Given the description of an element on the screen output the (x, y) to click on. 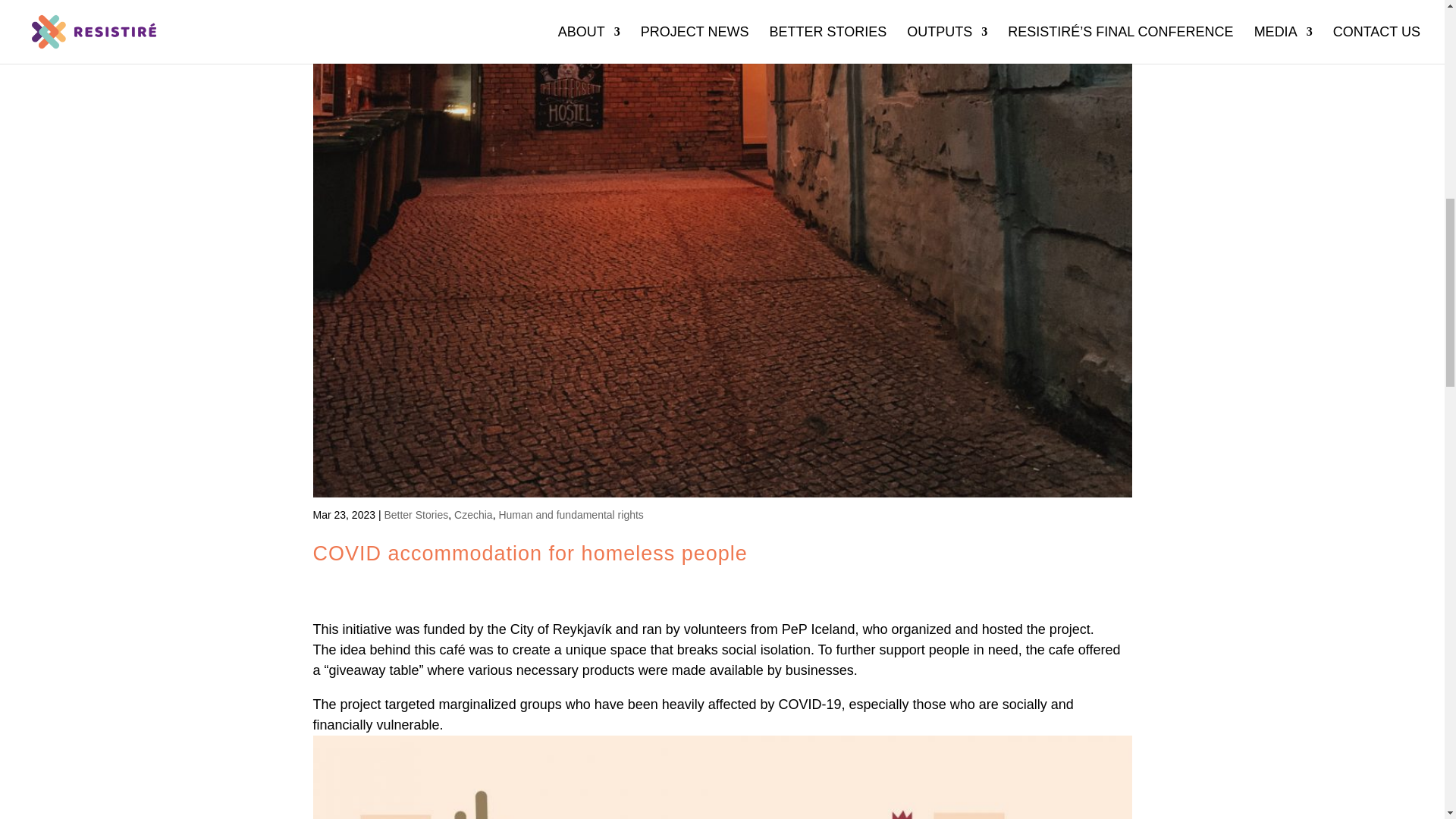
Better Stories (416, 514)
COVID accommodation for homeless people (529, 553)
Czechia (473, 514)
Human and fundamental rights (570, 514)
